Given the description of an element on the screen output the (x, y) to click on. 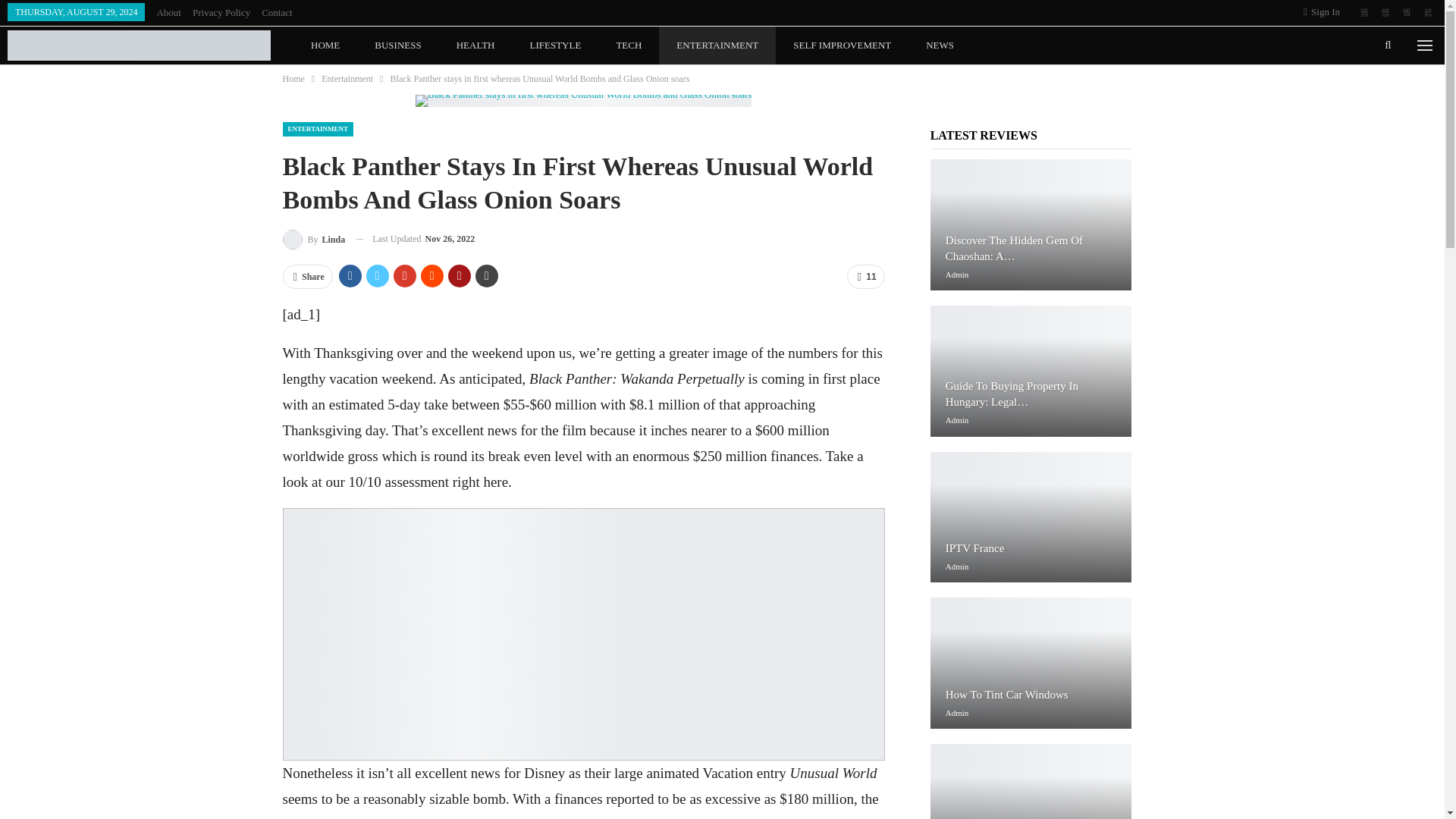
LIFESTYLE (555, 45)
HEALTH (475, 45)
BUSINESS (397, 45)
Contact (277, 12)
TECH (628, 45)
Privacy Policy (221, 12)
Sign In (1324, 12)
Browse Author Articles (313, 239)
